Given the description of an element on the screen output the (x, y) to click on. 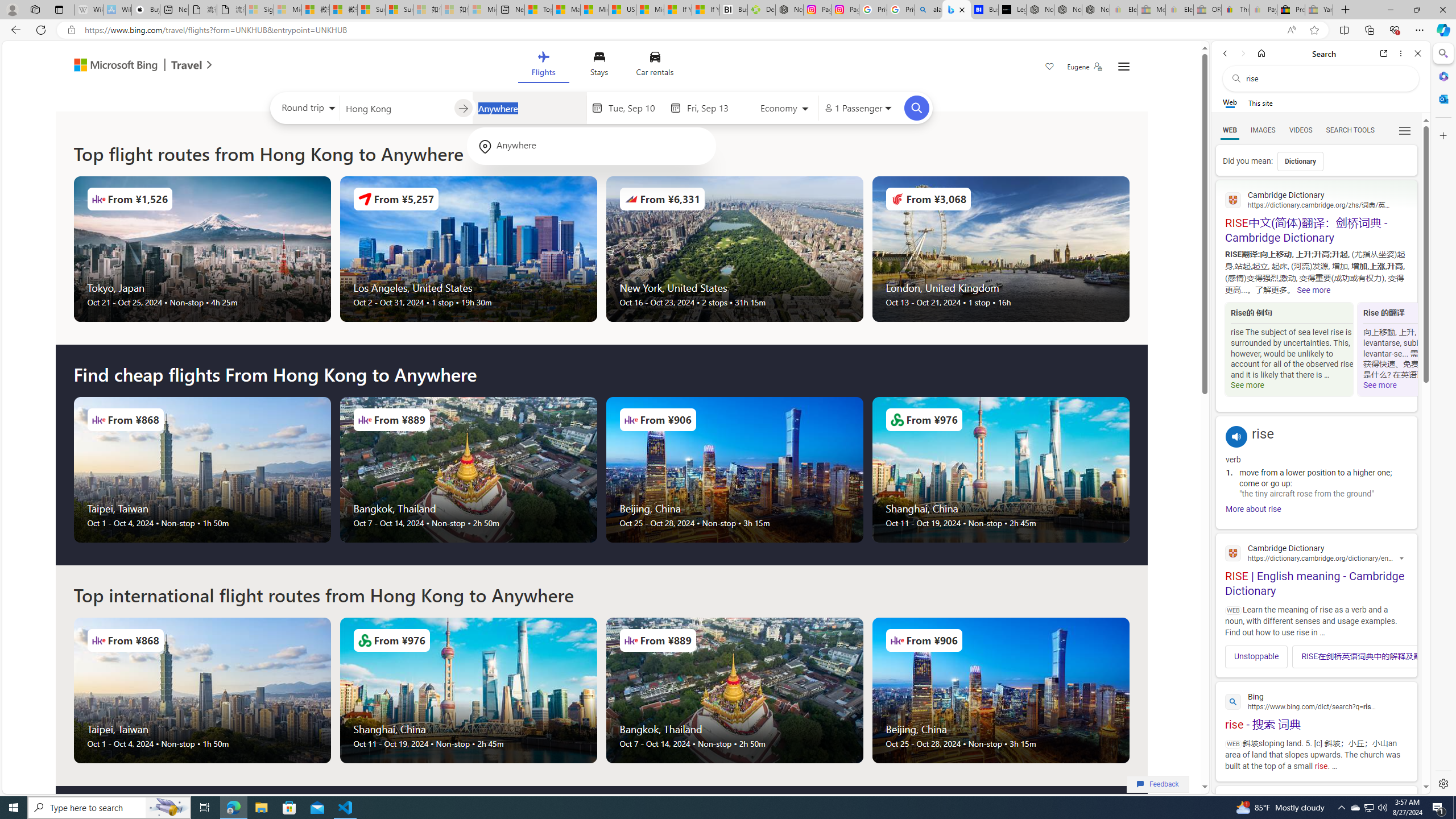
Save (1049, 67)
Airlines Logo (896, 640)
Leaving from? (396, 107)
RISE | English meaning - Cambridge Dictionary (1315, 568)
End date (713, 107)
